Given the description of an element on the screen output the (x, y) to click on. 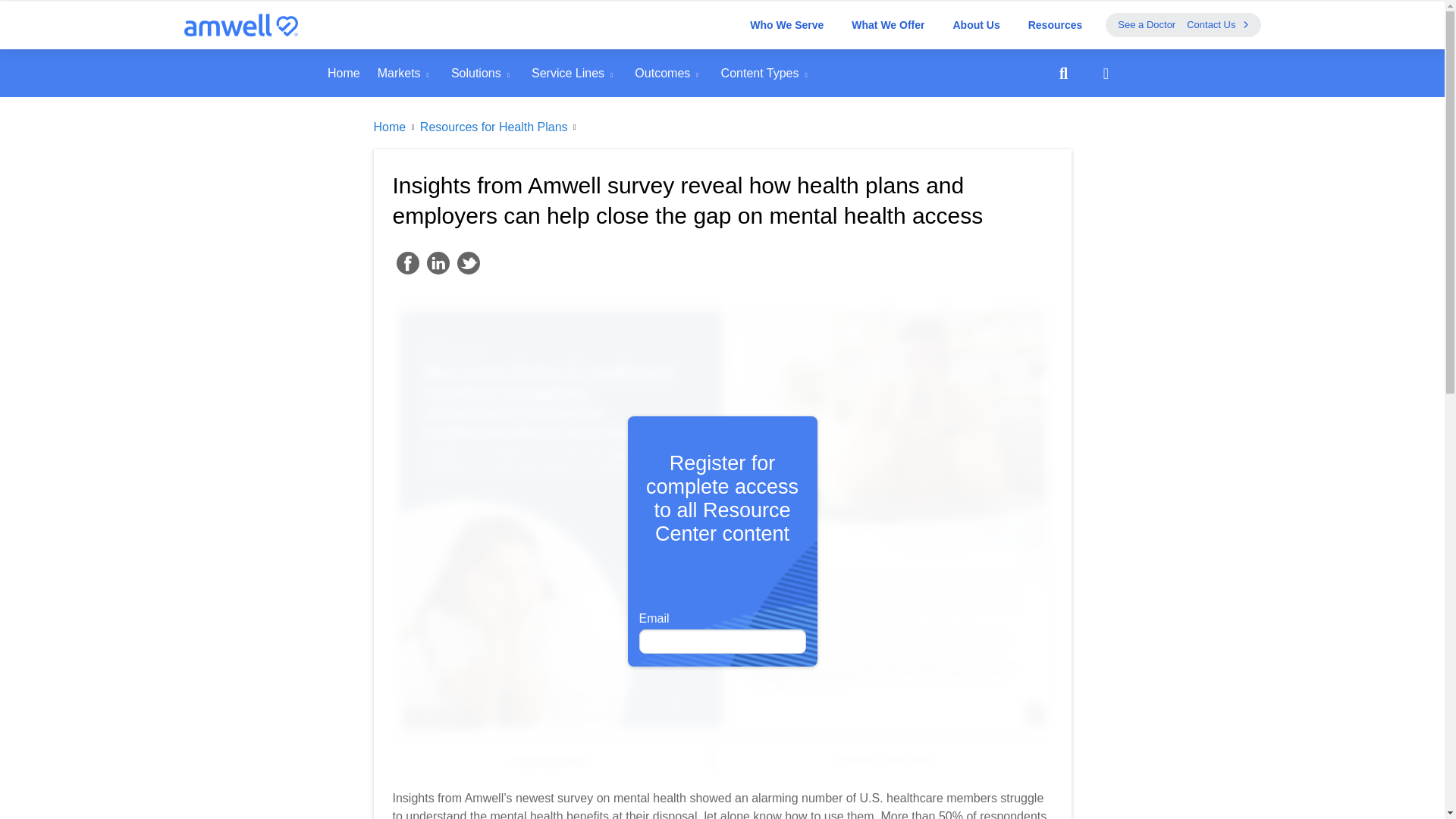
Share on facebook (407, 262)
What We Offer (887, 24)
Share on twitter (468, 262)
Share on linkedin (437, 262)
Resources (1055, 24)
Open Search Box (1063, 72)
Who We Serve (786, 24)
Share this Post (1105, 72)
See a Doctor (1146, 24)
